Given the description of an element on the screen output the (x, y) to click on. 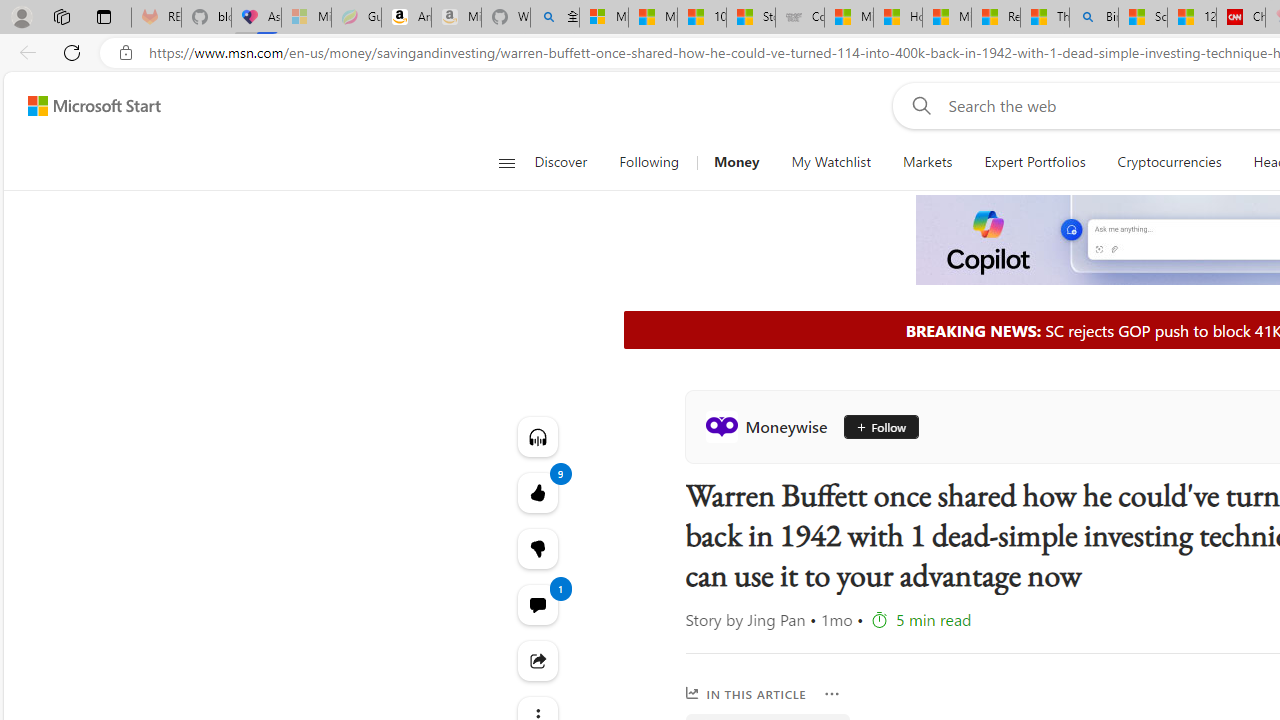
Markets (927, 162)
Cryptocurrencies (1168, 162)
Open navigation menu (506, 162)
More Options (832, 694)
Science - MSN (1142, 17)
Discover (560, 162)
Microsoft-Report a Concern to Bing - Sleeping (306, 17)
Stocks - MSN (750, 17)
Following (649, 162)
